Given the description of an element on the screen output the (x, y) to click on. 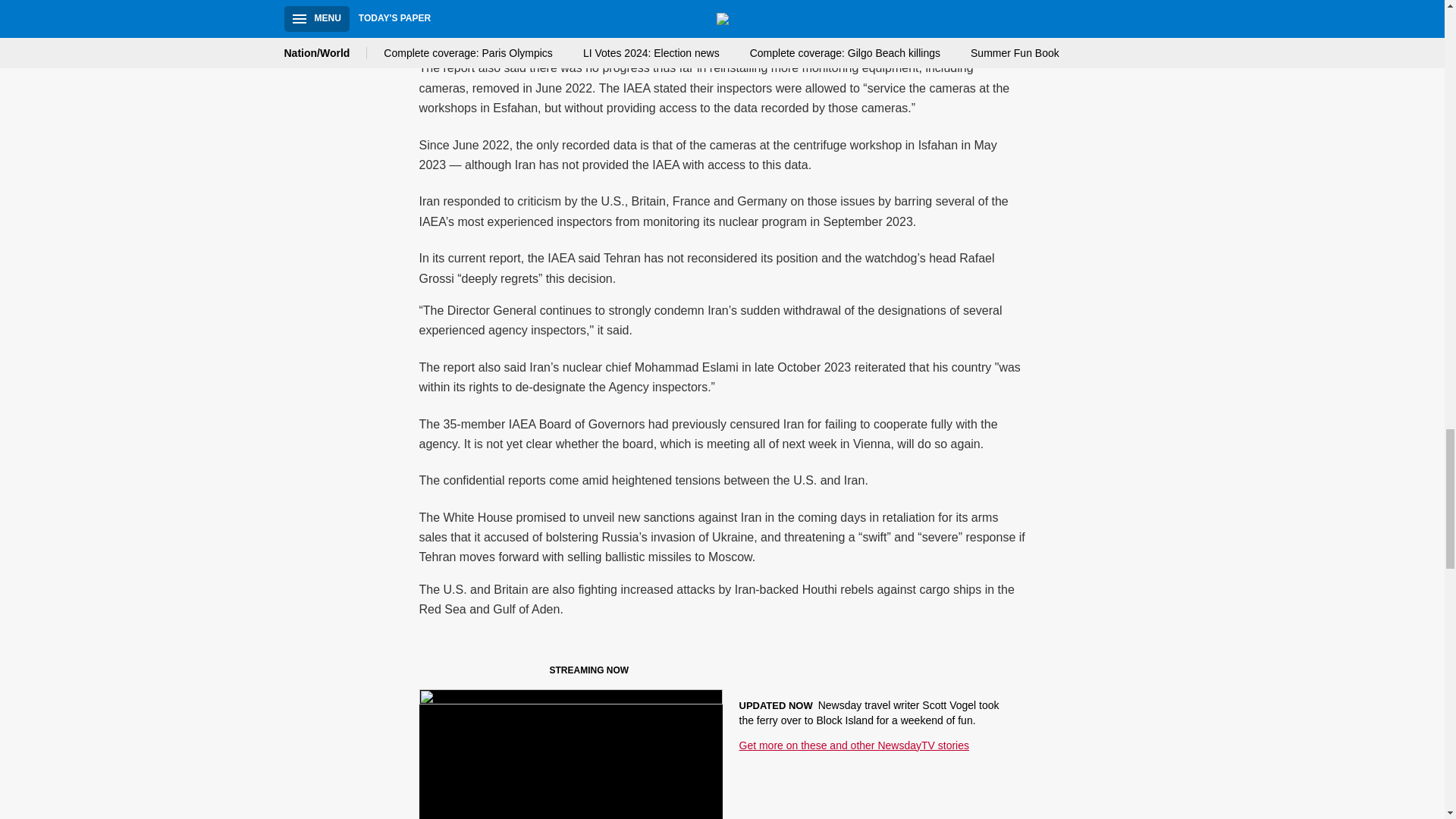
STREAMING NOW (530, 673)
Get more on these and other NewsdayTV stories (853, 745)
